Given the description of an element on the screen output the (x, y) to click on. 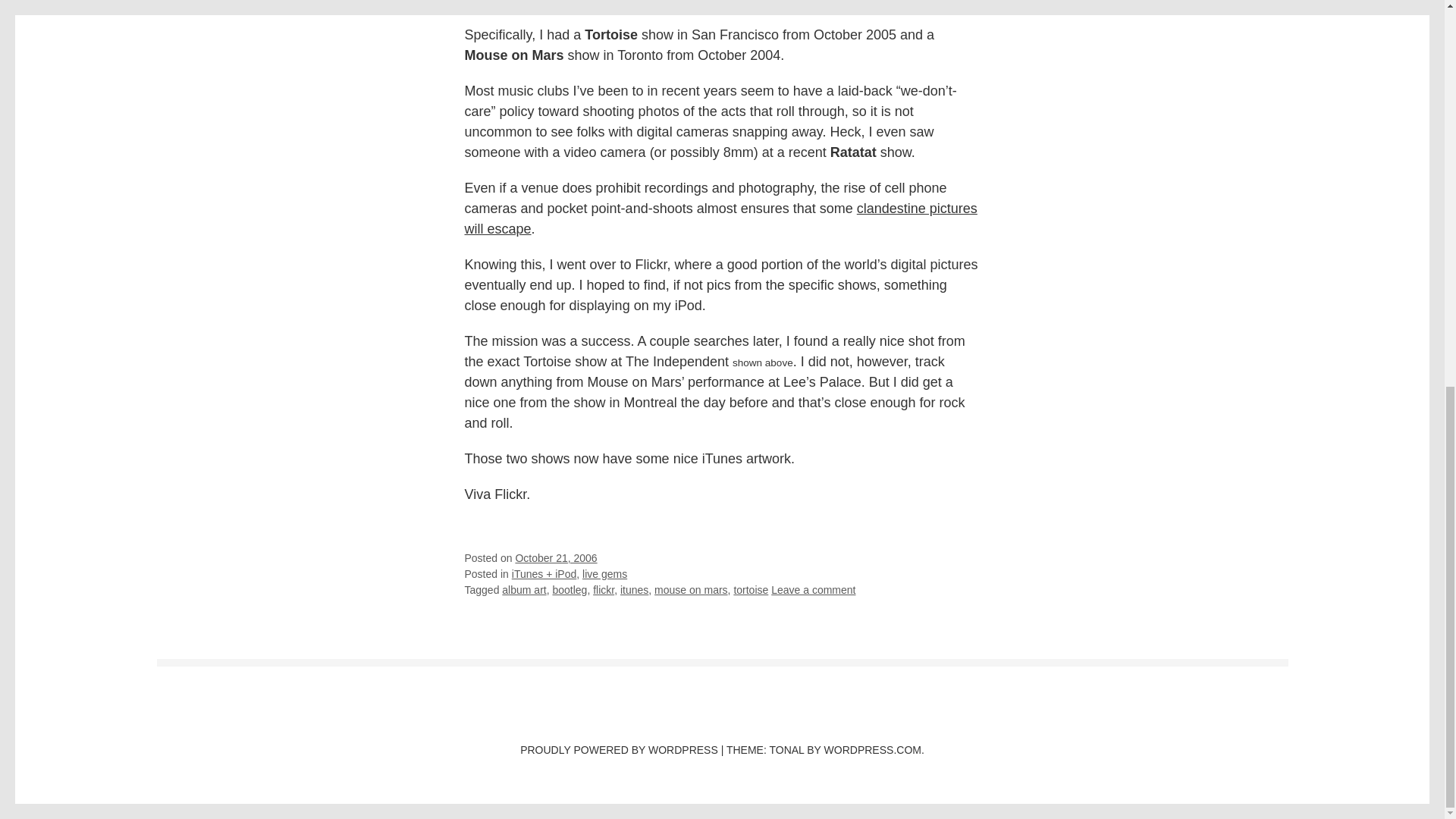
Leave a comment (813, 589)
WORDPRESS.COM (872, 749)
live gems (604, 573)
clandestine pictures will escape (720, 218)
itunes (633, 589)
mouse on mars (689, 589)
October 21, 2006 (555, 558)
PROUDLY POWERED BY WORDPRESS (618, 749)
bootleg (568, 589)
tortoise (750, 589)
album art (524, 589)
flickr (603, 589)
